Given the description of an element on the screen output the (x, y) to click on. 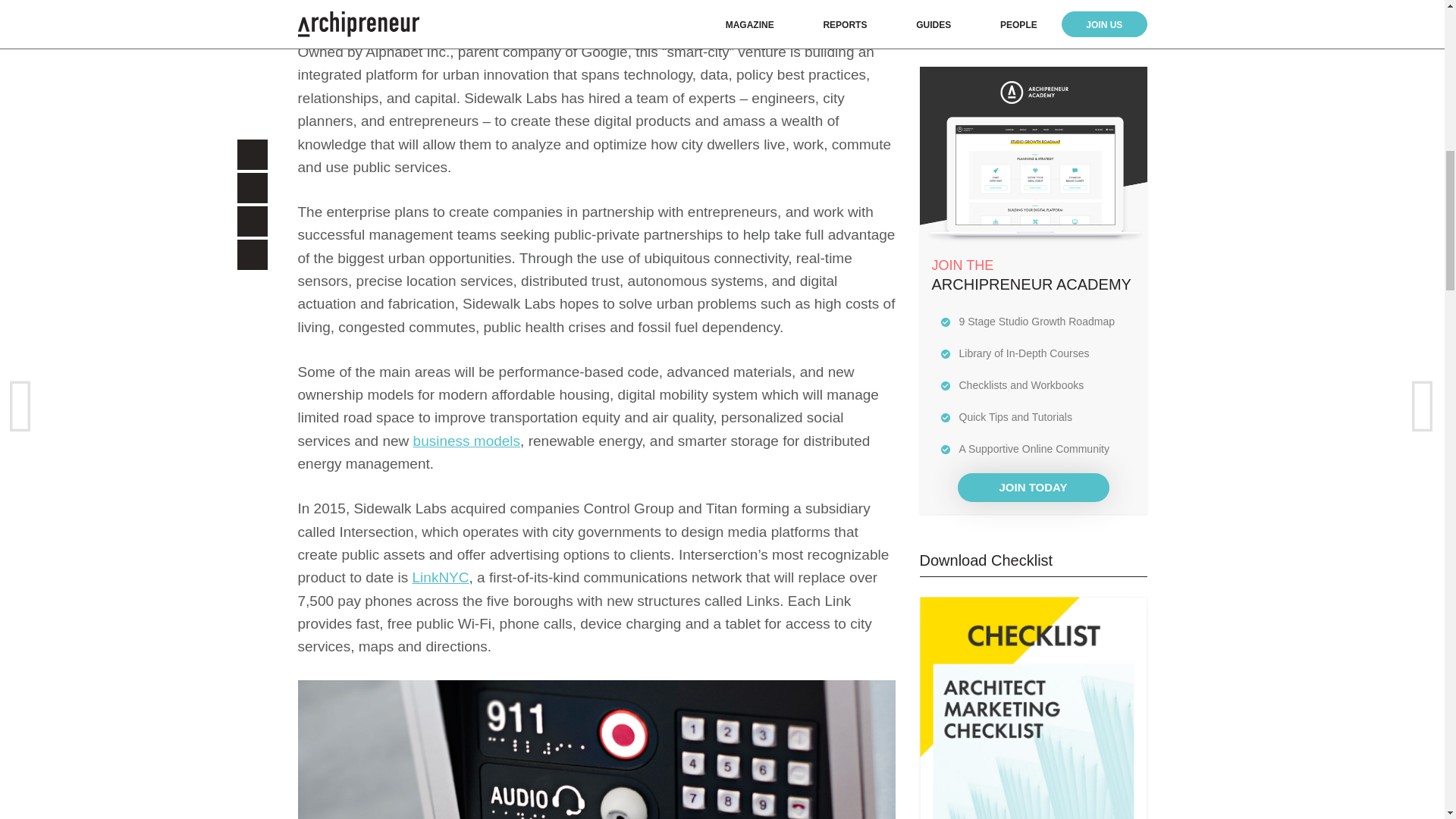
business models (467, 440)
LinkNYC (440, 577)
How digital twins and VR will help build a better tomorrow? (1062, 198)
